Given the description of an element on the screen output the (x, y) to click on. 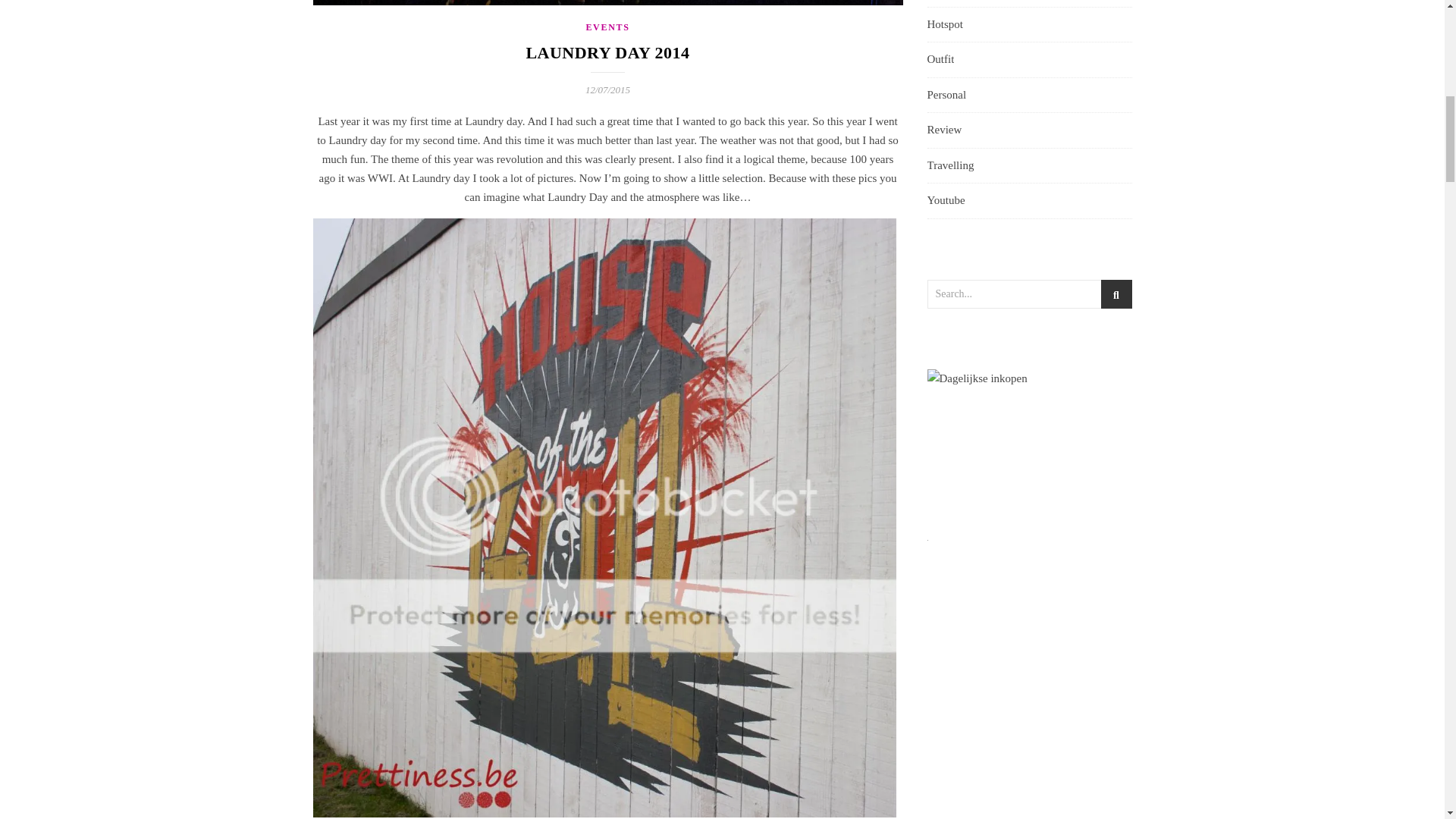
Outfit (939, 59)
EVENTS (606, 27)
Youtube (944, 200)
Personal (946, 95)
Travelling (950, 165)
Hotspot (944, 24)
Food (938, 0)
Review (943, 129)
st (1116, 294)
